Given the description of an element on the screen output the (x, y) to click on. 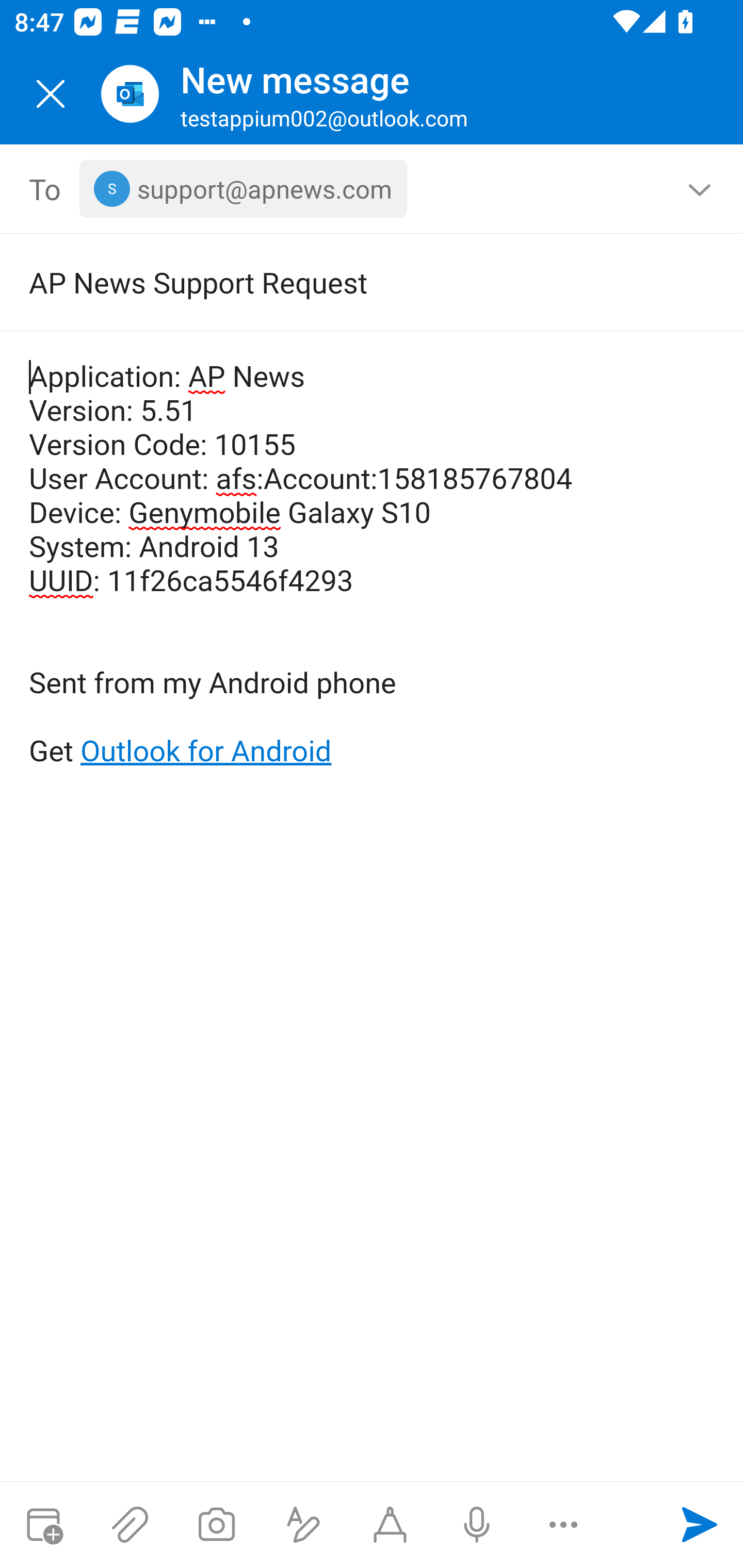
Close (50, 93)
To, 1 recipient <support@apnews.com> (371, 188)
AP News Support Request (342, 281)
Attach meeting (43, 1524)
Attach files (129, 1524)
Take a photo (216, 1524)
Show formatting options (303, 1524)
Start Ink compose (389, 1524)
Dictation (476, 1524)
More options (563, 1524)
Send (699, 1524)
